Given the description of an element on the screen output the (x, y) to click on. 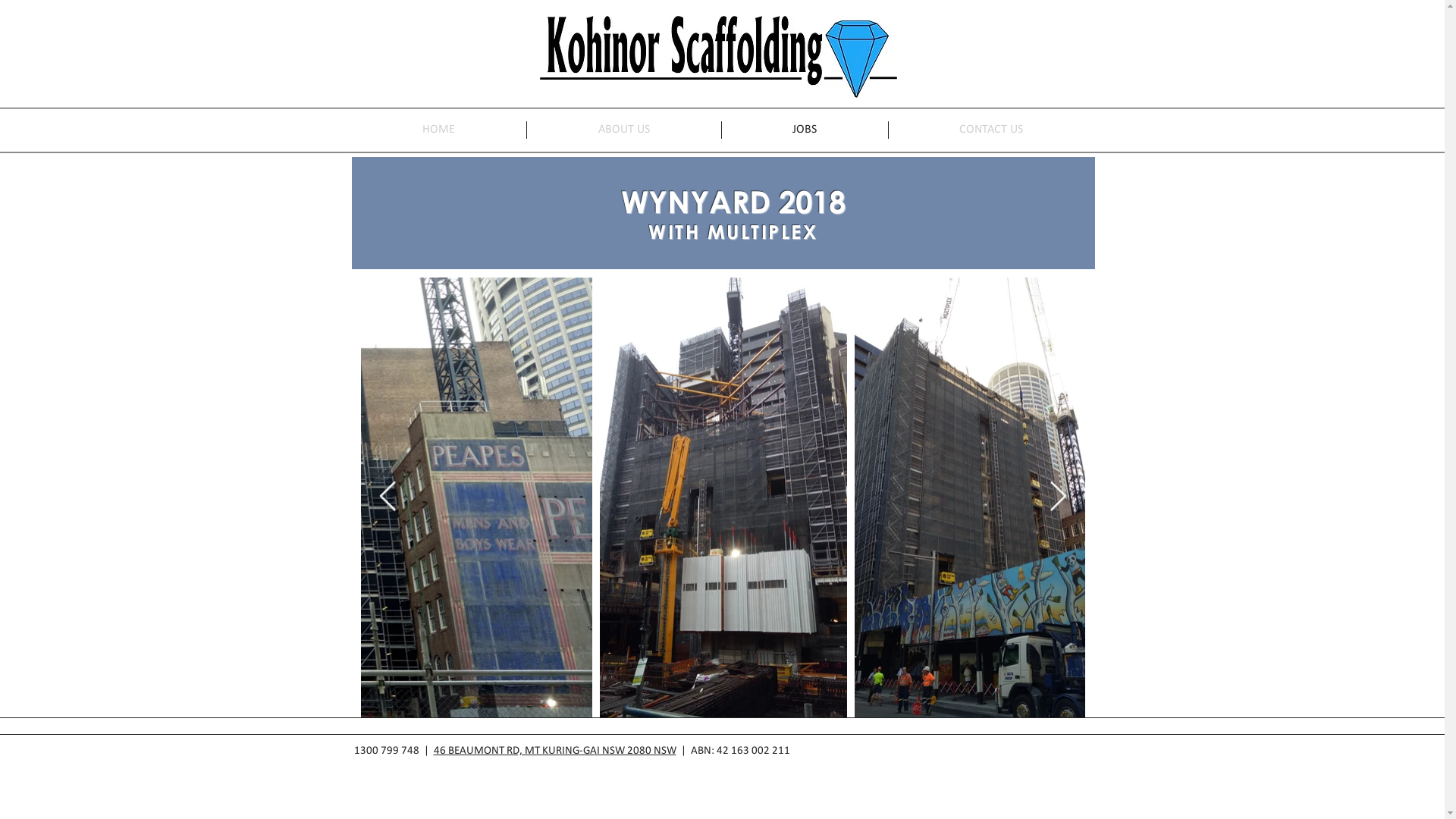
46 BEAUMONT RD, MT KURING-GAI NSW 2080 NSW Element type: text (554, 750)
JOBS Element type: text (804, 129)
HOME Element type: text (437, 129)
ABOUT US Element type: text (623, 129)
CONTACT US Element type: text (991, 129)
